Given the description of an element on the screen output the (x, y) to click on. 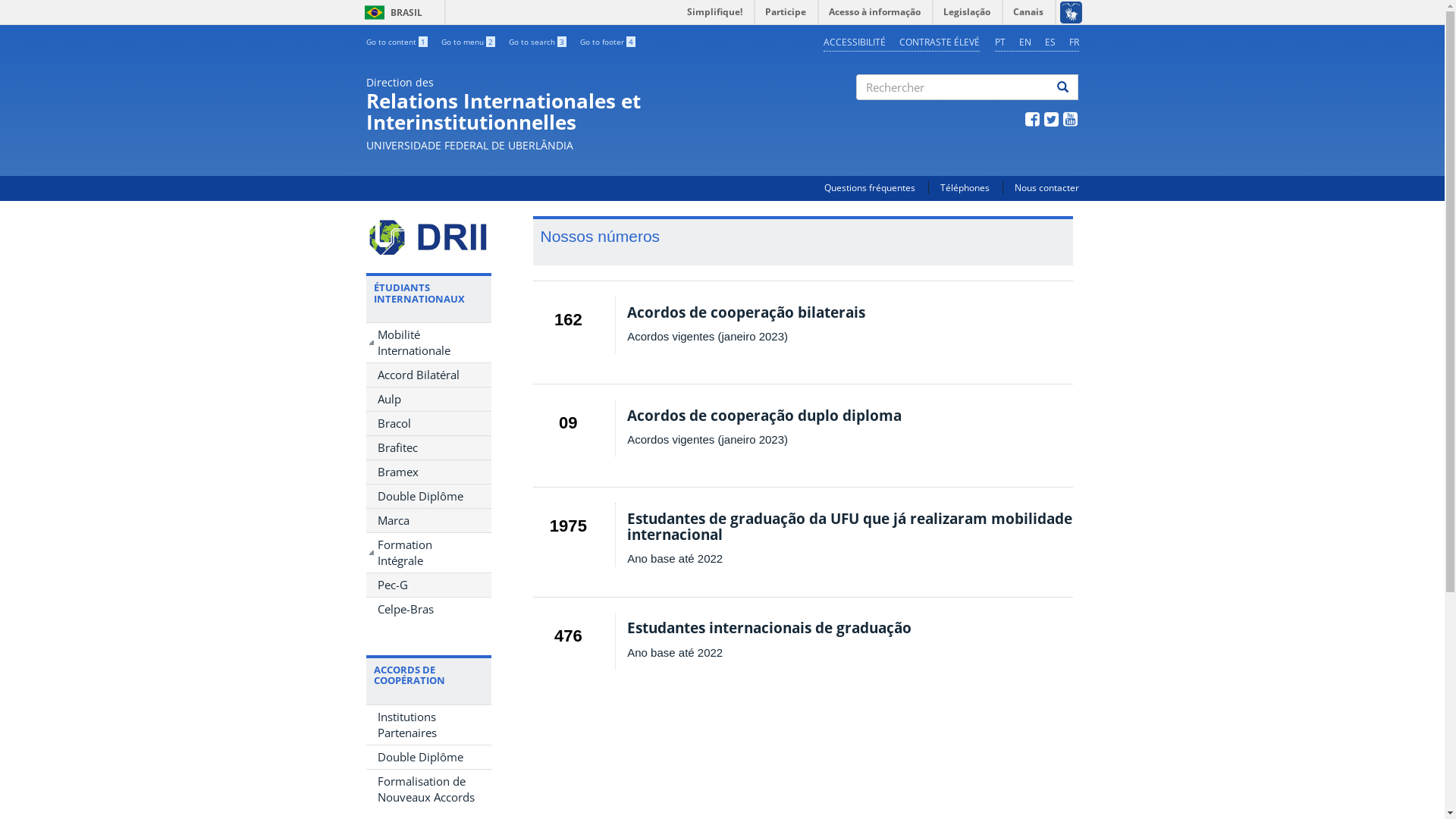
Celpe-Bras Element type: text (427, 609)
Brafitec Element type: text (427, 447)
ES Element type: text (1049, 41)
476 Element type: text (568, 635)
Go to menu 2 Element type: text (468, 41)
162 Element type: text (568, 319)
Acordos vigentes (janeiro 2023) Element type: text (707, 439)
Marca Element type: text (427, 520)
Formalisation de Nouveaux Accords Element type: text (427, 789)
Bracol Element type: text (427, 423)
BRASIL Element type: text (373, 12)
09 Element type: text (567, 422)
1975 Element type: text (567, 525)
Aulp Element type: text (427, 399)
Bramex Element type: text (427, 471)
FR Element type: text (1074, 41)
Nous contacter Element type: text (1046, 187)
PT Element type: text (999, 41)
Go to content 1 Element type: text (395, 41)
Go to search 3 Element type: text (536, 41)
Rechercher Element type: text (865, 112)
Institutions Partenaires Element type: text (427, 724)
Go to footer 4 Element type: text (606, 41)
Acordos vigentes (janeiro 2023) Element type: text (707, 335)
Pec-G Element type: text (427, 584)
EN Element type: text (1025, 41)
